Given the description of an element on the screen output the (x, y) to click on. 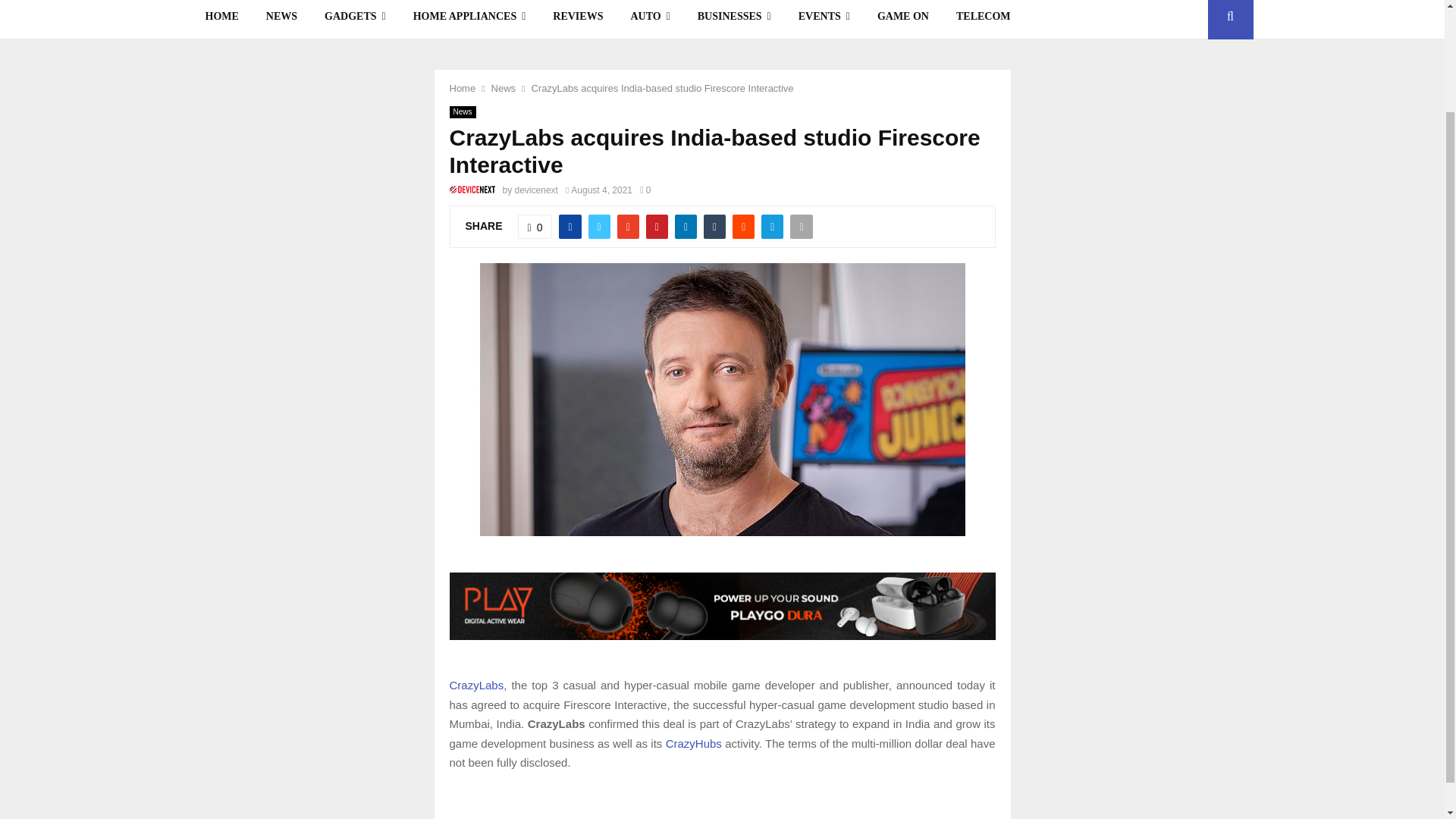
Like (535, 226)
BUSINESSES (734, 19)
HOME (220, 19)
HOME APPLIANCES (469, 19)
GADGETS (354, 19)
AUTO (648, 19)
NEWS (281, 19)
REVIEWS (576, 19)
EVENTS (823, 19)
